Given the description of an element on the screen output the (x, y) to click on. 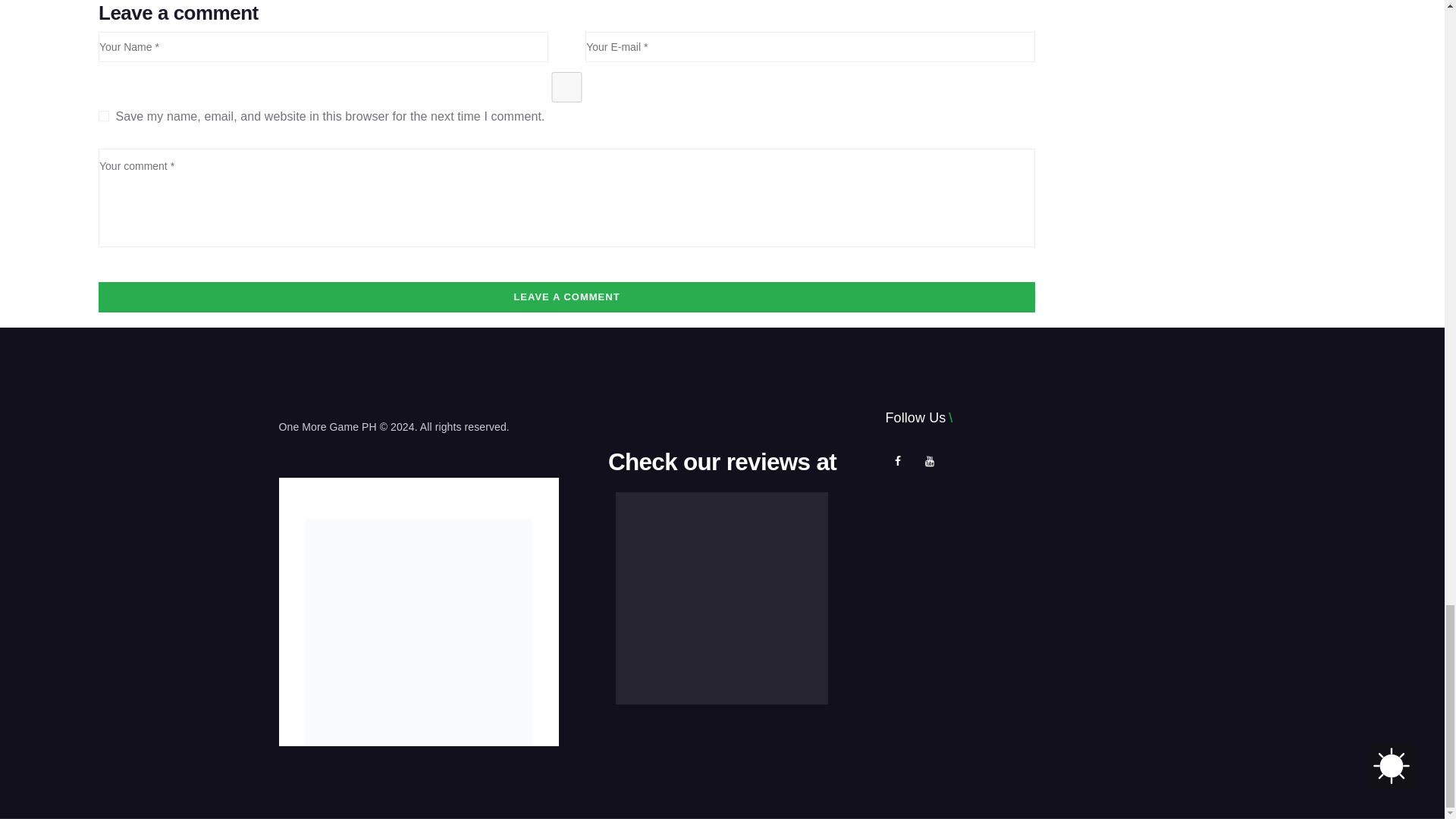
Leave a comment (567, 296)
yes (567, 87)
